Given the description of an element on the screen output the (x, y) to click on. 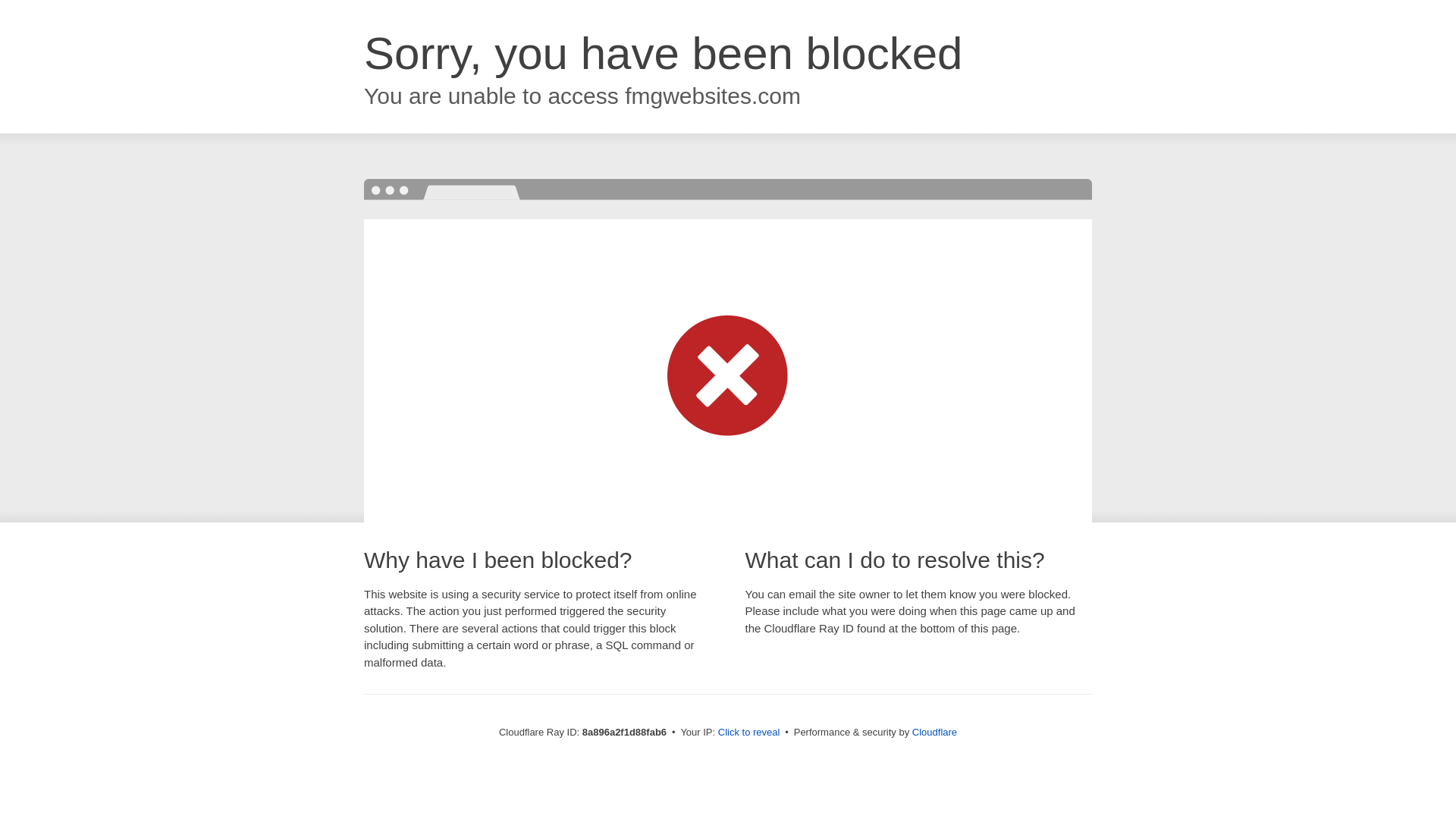
Cloudflare (934, 731)
Click to reveal (748, 732)
